Given the description of an element on the screen output the (x, y) to click on. 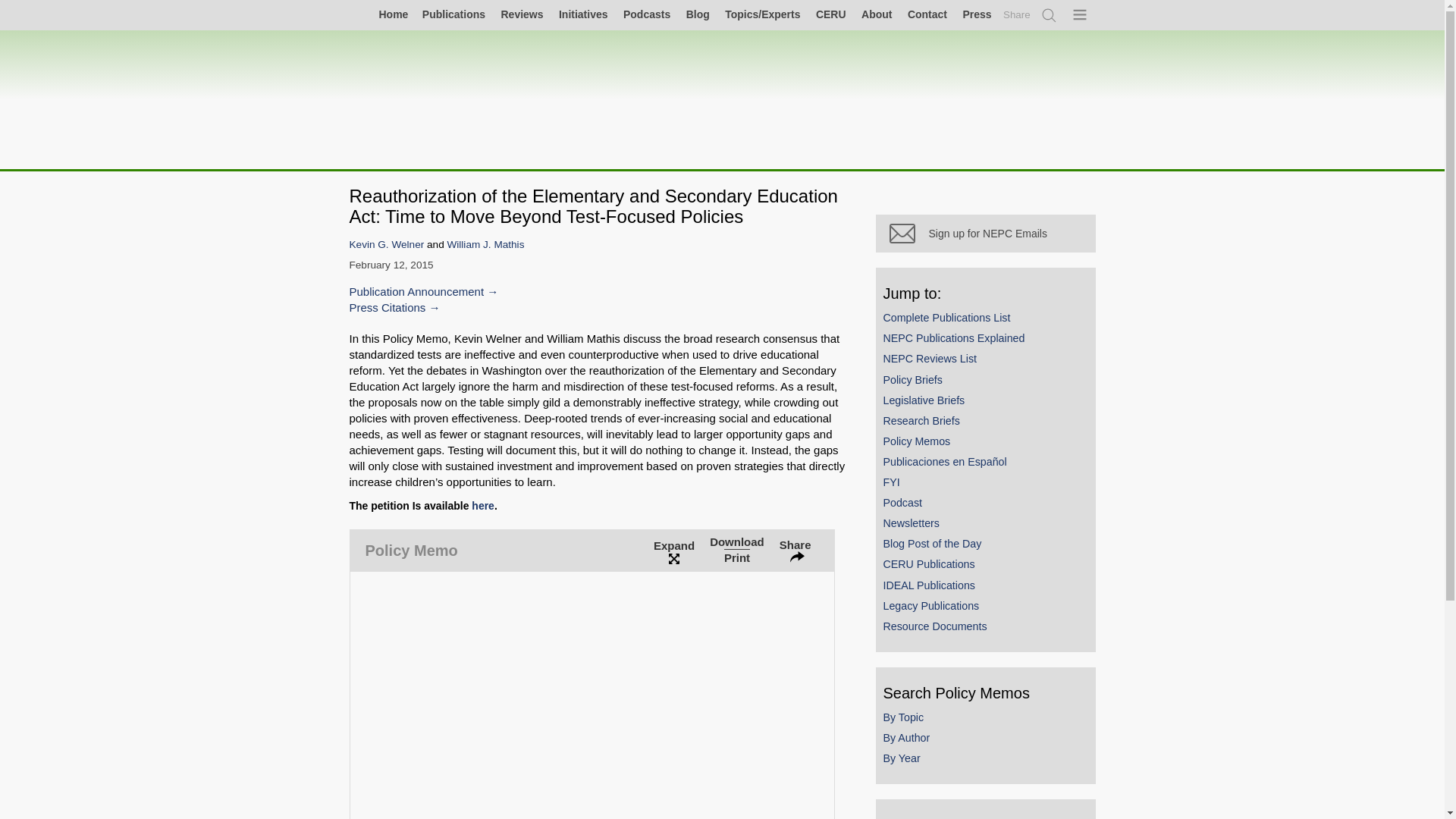
Search (1049, 14)
Initiatives (582, 13)
All NEPC Reviews (521, 13)
Home (381, 14)
Contact (927, 13)
CERU (831, 13)
All Podcast Episodes (647, 13)
nepc-policymemo-esea.pdf (592, 695)
Reviews (521, 13)
Podcasts (647, 13)
Press (976, 13)
About (876, 13)
Search (1049, 14)
Open menu (1080, 14)
All Archived NEPC Publications (454, 13)
